Given the description of an element on the screen output the (x, y) to click on. 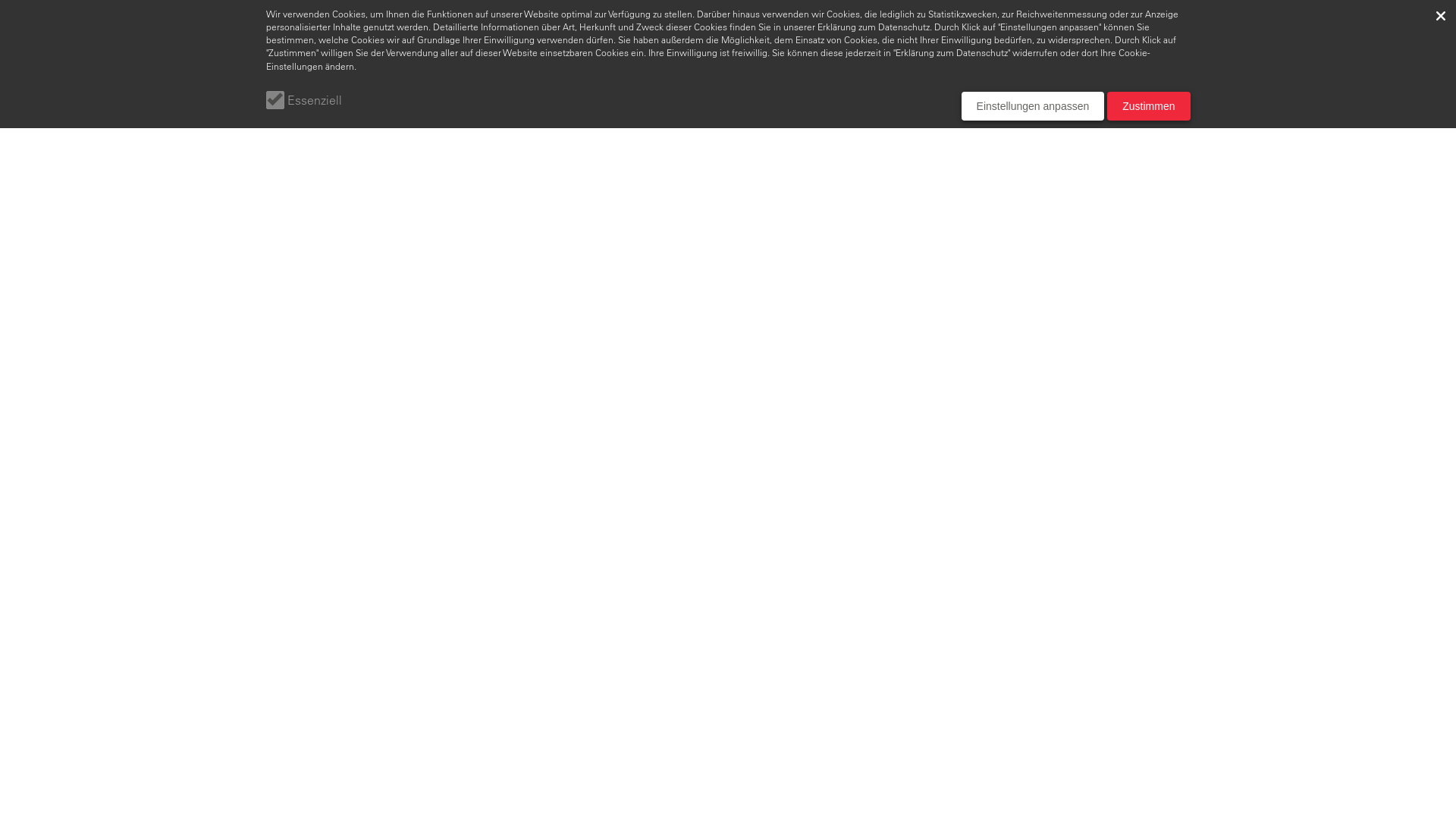
Einstellungen anpassen Element type: text (1032, 105)
Zustimmen Element type: text (1148, 105)
